Given the description of an element on the screen output the (x, y) to click on. 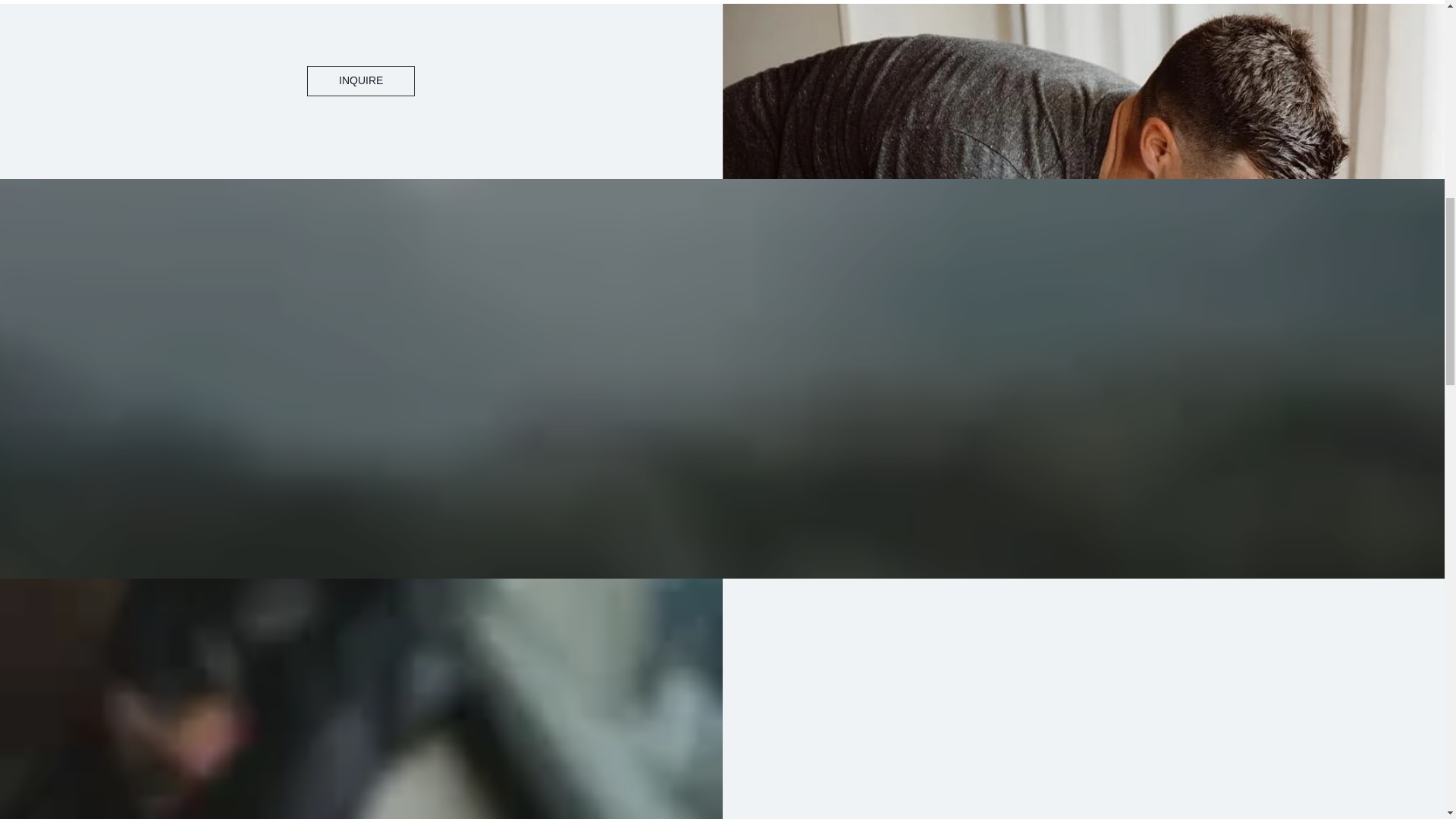
INQUIRE (360, 81)
